Given the description of an element on the screen output the (x, y) to click on. 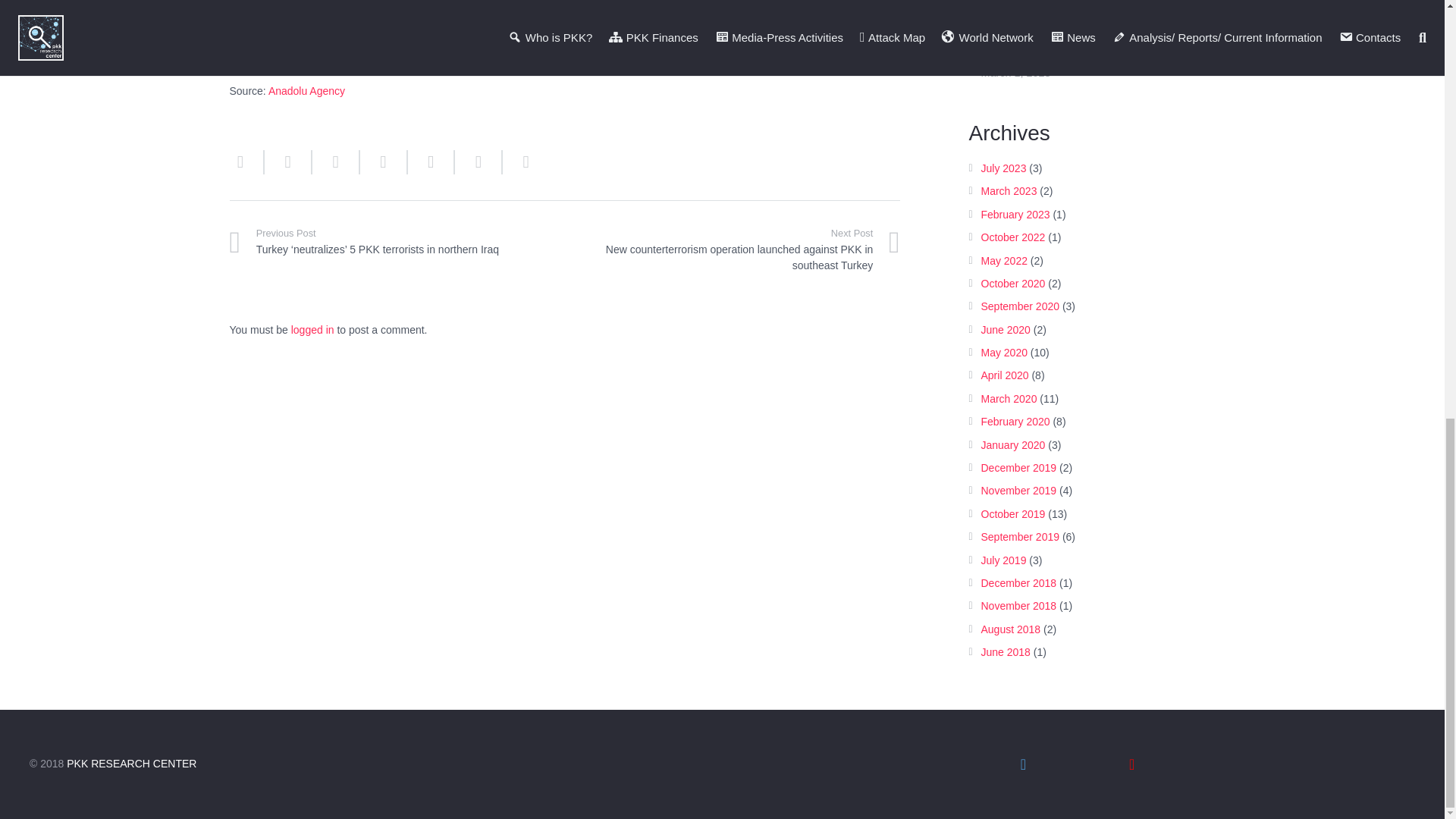
Email this (246, 161)
Tweet this (336, 161)
Back to top (1413, 6)
Share this (288, 161)
Share this (383, 161)
logged in (312, 329)
Anadolu Agency (306, 91)
Share this (519, 161)
Share this (431, 161)
